Given the description of an element on the screen output the (x, y) to click on. 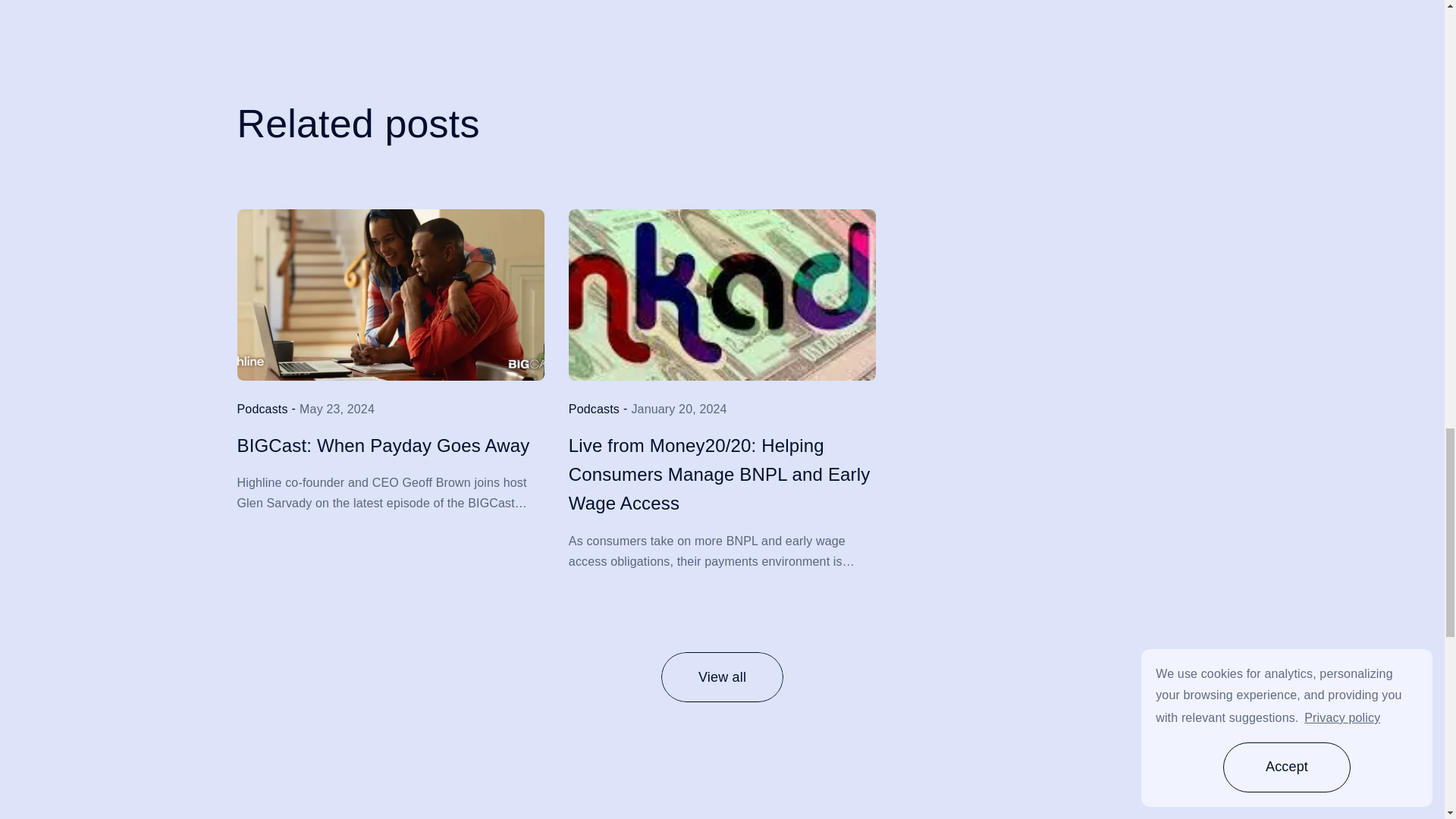
View all (722, 676)
BIGCast: When Payday Goes Away (382, 445)
